Given the description of an element on the screen output the (x, y) to click on. 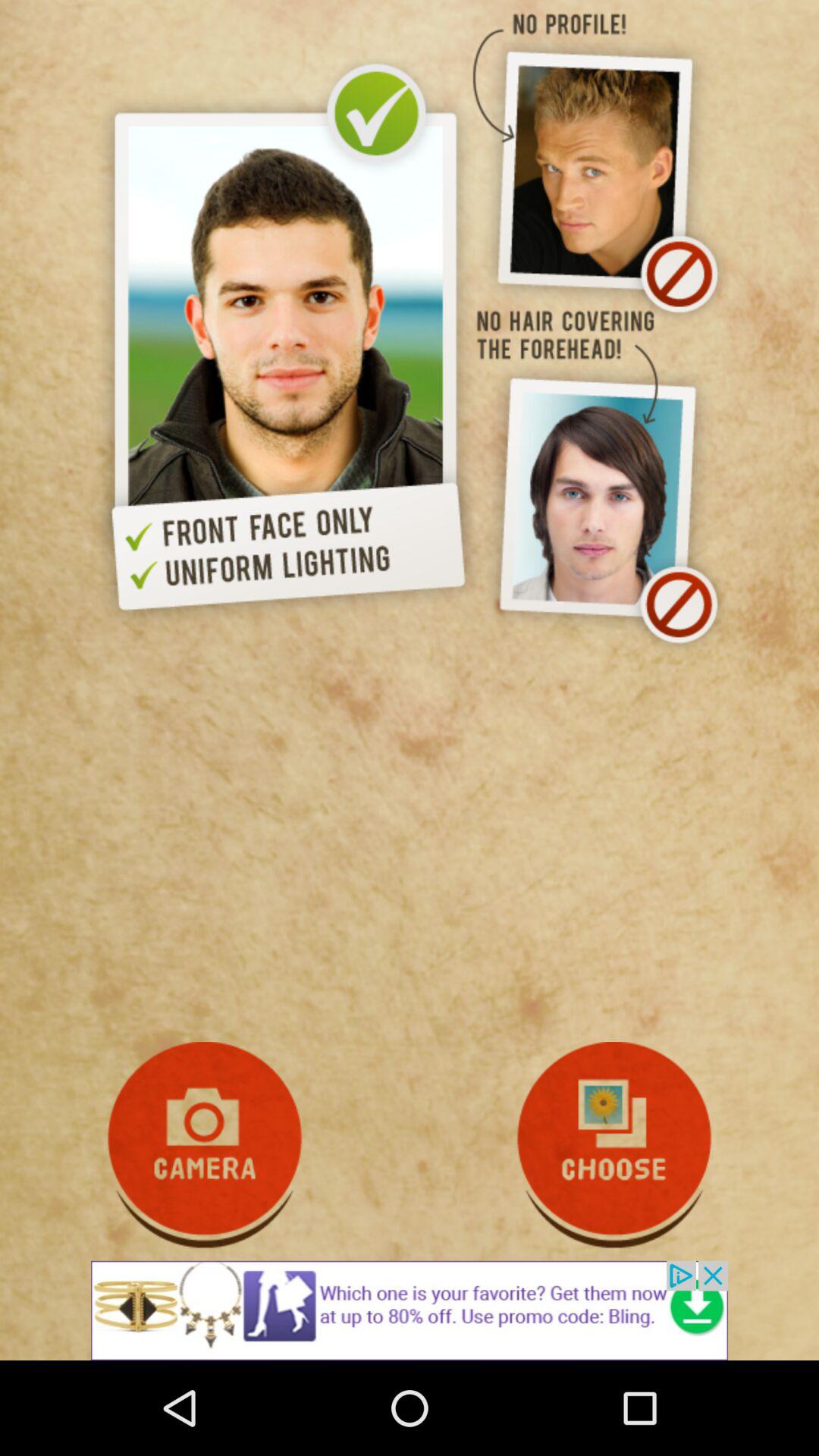
links to advertisement (409, 1310)
